Given the description of an element on the screen output the (x, y) to click on. 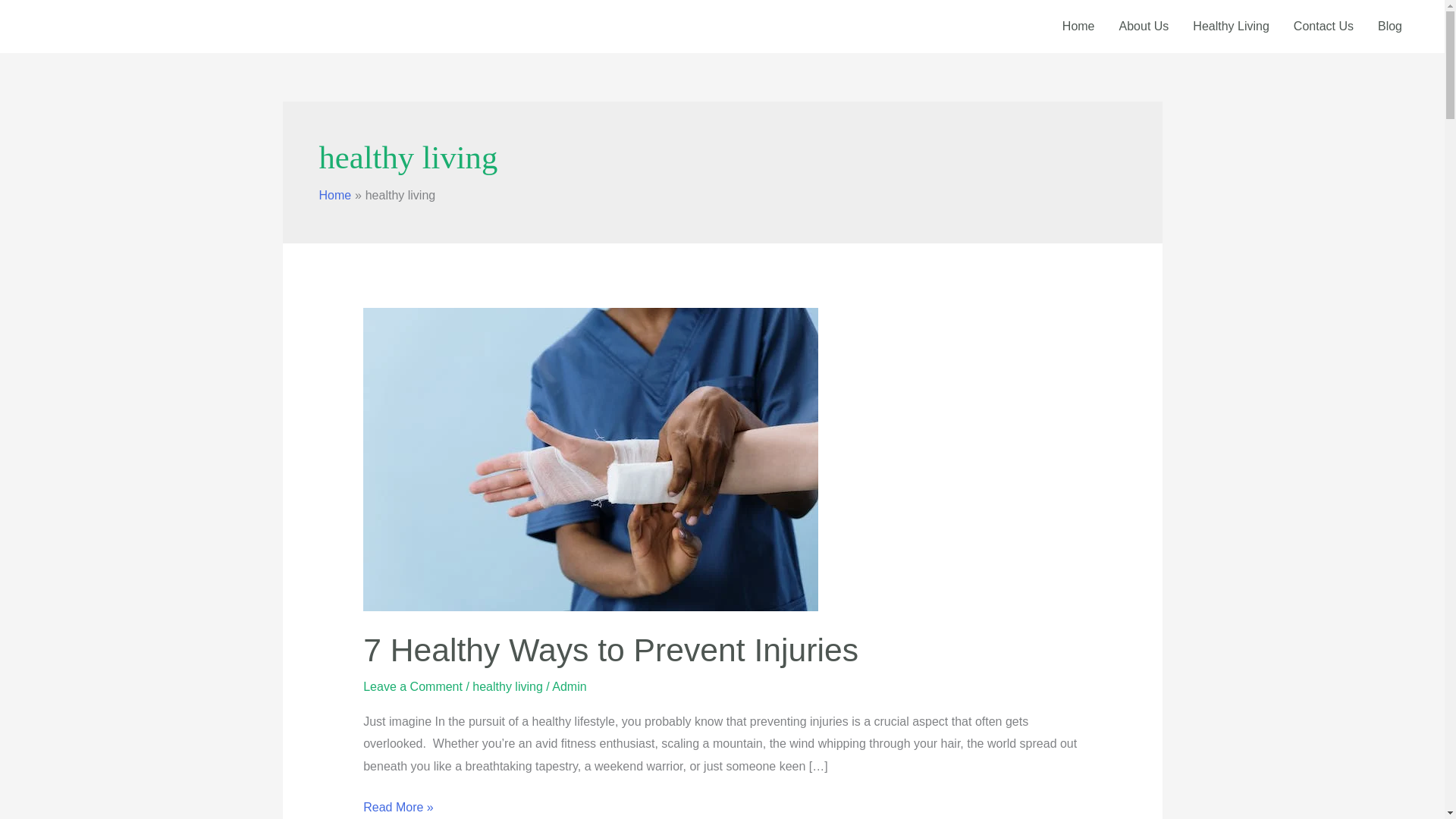
Admin (568, 686)
Leave a Comment (412, 686)
healthy living (507, 686)
Home (334, 195)
Healthy Living (1230, 26)
7 Healthy Ways to Prevent Injuries (610, 649)
View all posts by Admin (568, 686)
Contact Us (1323, 26)
Home (1077, 26)
About Us (1143, 26)
